Given the description of an element on the screen output the (x, y) to click on. 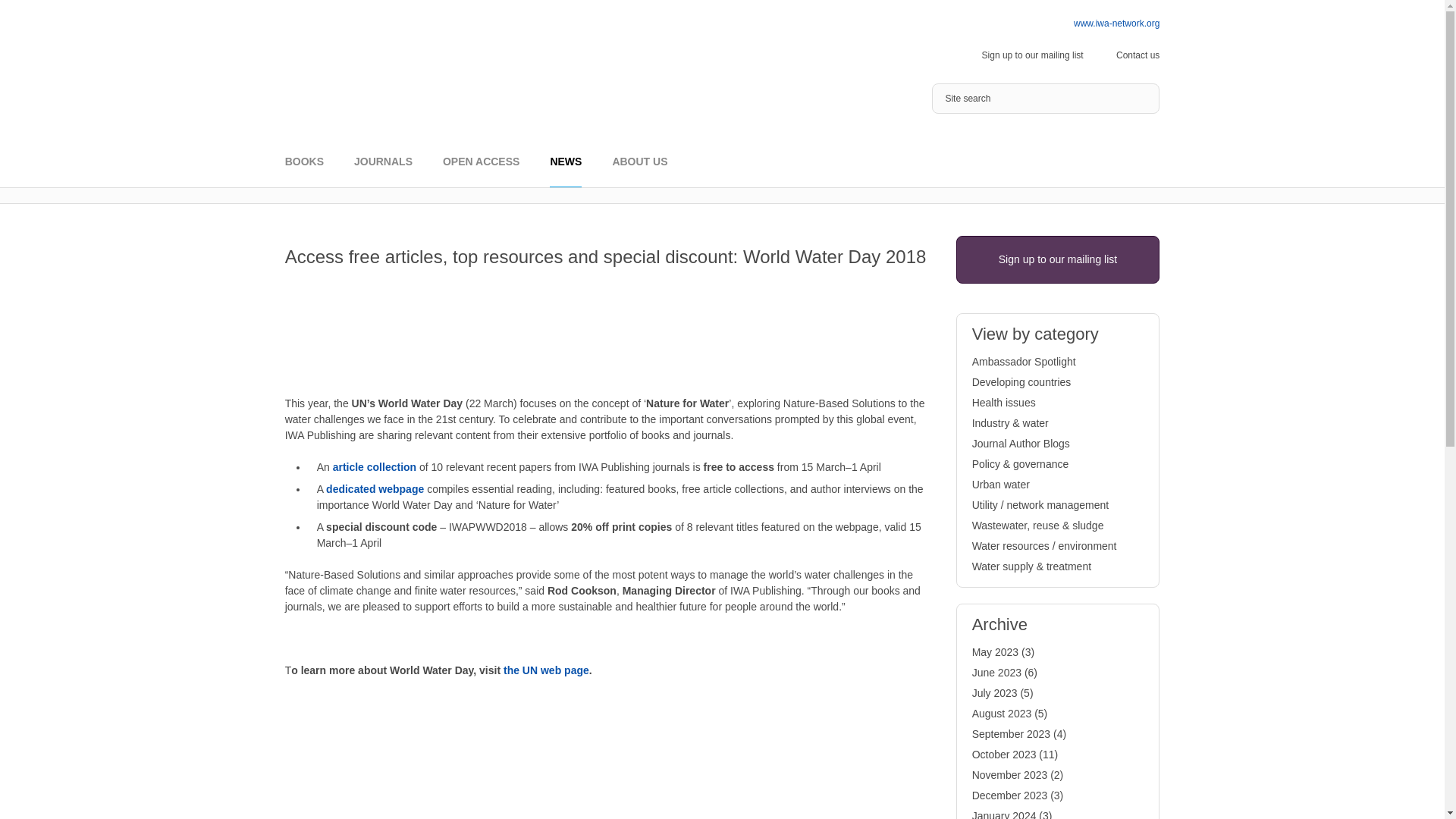
Search (1143, 98)
article collection (374, 467)
OPEN ACCESS (480, 170)
Search (1143, 98)
JOURNALS (382, 170)
dedicated webpage (374, 489)
Twitter (968, 23)
Visit www.iwa-network.org (1116, 23)
Join our LinkedIn newtwork (1002, 23)
www.iwa-network.org (1116, 23)
